Given the description of an element on the screen output the (x, y) to click on. 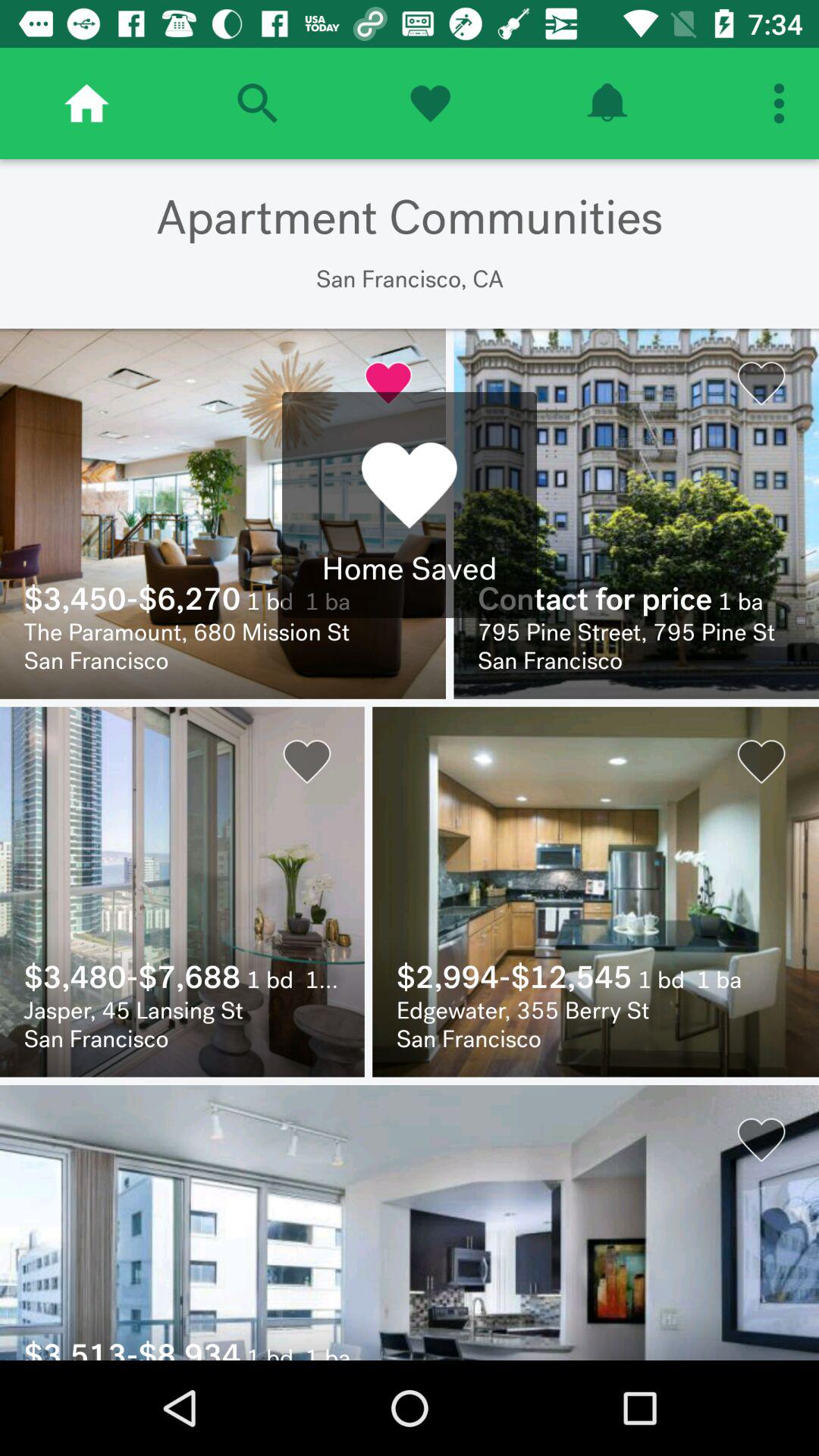
notifaction buton when something new comes up (606, 103)
